Given the description of an element on the screen output the (x, y) to click on. 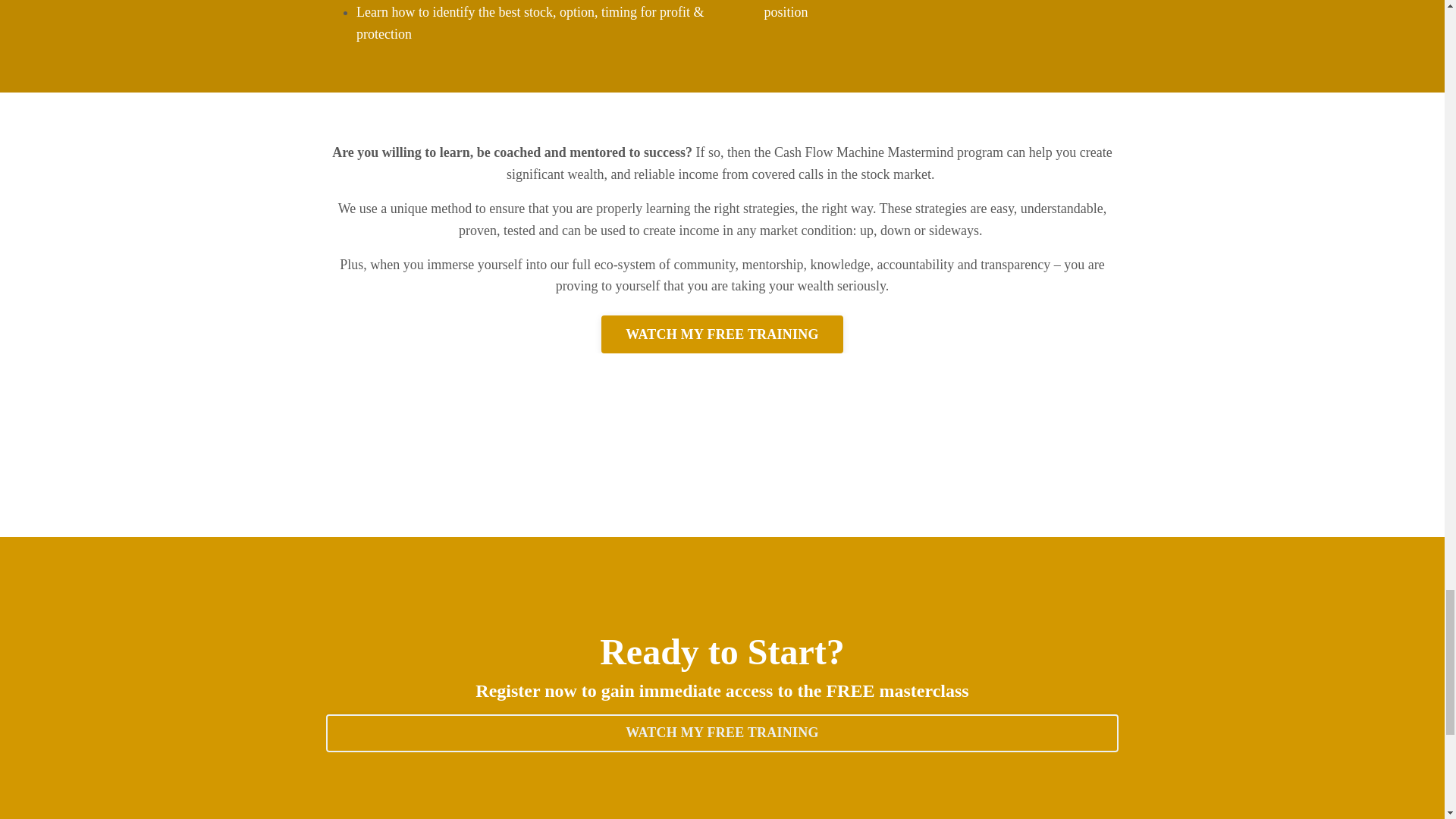
WATCH MY FREE TRAINING (722, 333)
WATCH MY FREE TRAINING (722, 733)
